Given the description of an element on the screen output the (x, y) to click on. 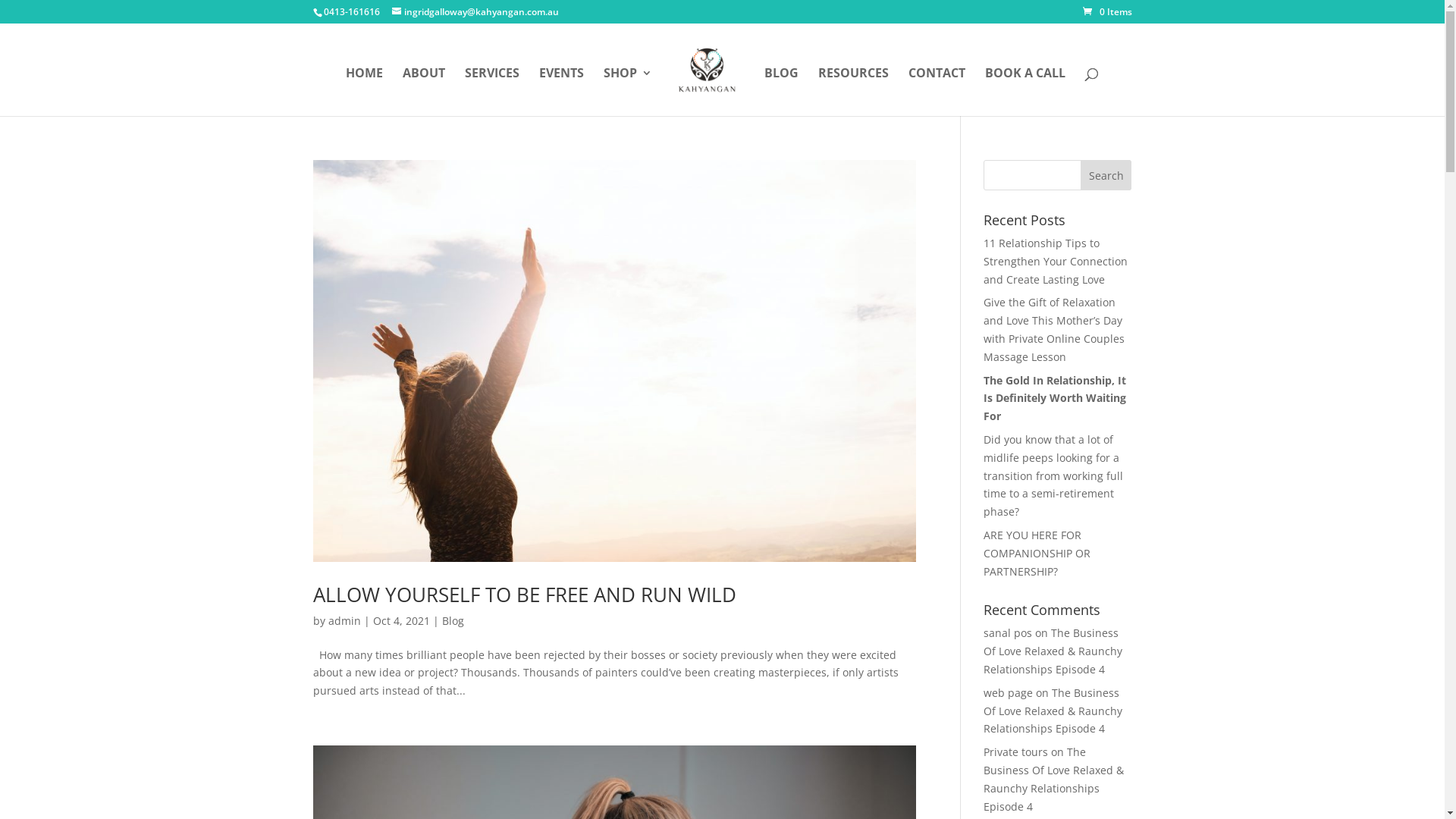
admin Element type: text (343, 620)
The Gold In Relationship, It Is Definitely Worth Waiting For Element type: text (1054, 398)
EVENTS Element type: text (561, 91)
Private tours Element type: text (1015, 751)
BOOK A CALL Element type: text (1025, 91)
RESOURCES Element type: text (853, 91)
Blog Element type: text (452, 620)
SHOP Element type: text (627, 91)
sanal pos Element type: text (1007, 632)
0 Items Element type: text (1107, 11)
CONTACT Element type: text (936, 91)
ABOUT Element type: text (423, 91)
SERVICES Element type: text (491, 91)
BLOG Element type: text (781, 91)
ARE YOU HERE FOR COMPANIONSHIP OR PARTNERSHIP?  Element type: text (1036, 552)
ALLOW YOURSELF TO BE FREE AND RUN WILD Element type: text (523, 594)
ingridgalloway@kahyangan.com.au Element type: text (474, 11)
Search Element type: text (1106, 175)
HOME Element type: text (363, 91)
web page Element type: text (1007, 692)
